Given the description of an element on the screen output the (x, y) to click on. 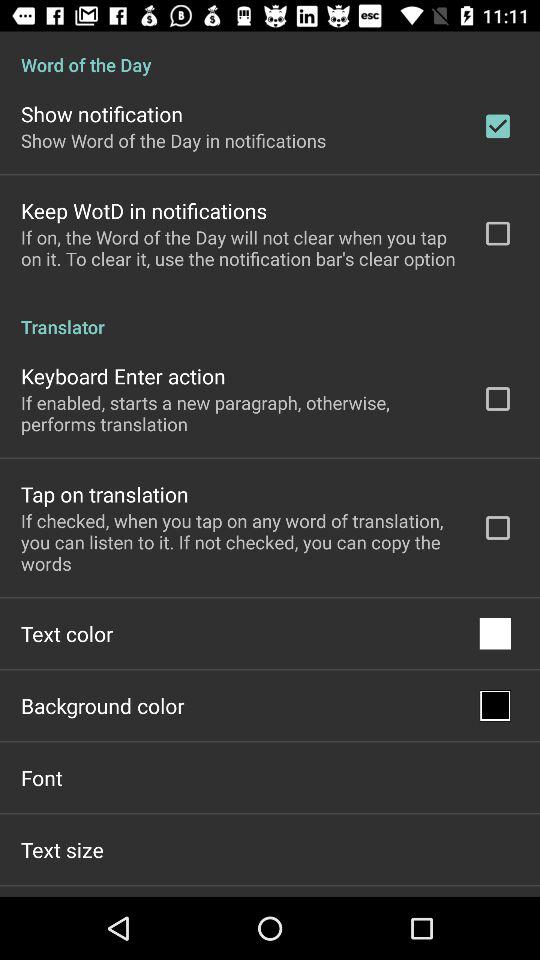
click app below if checked when app (67, 633)
